Given the description of an element on the screen output the (x, y) to click on. 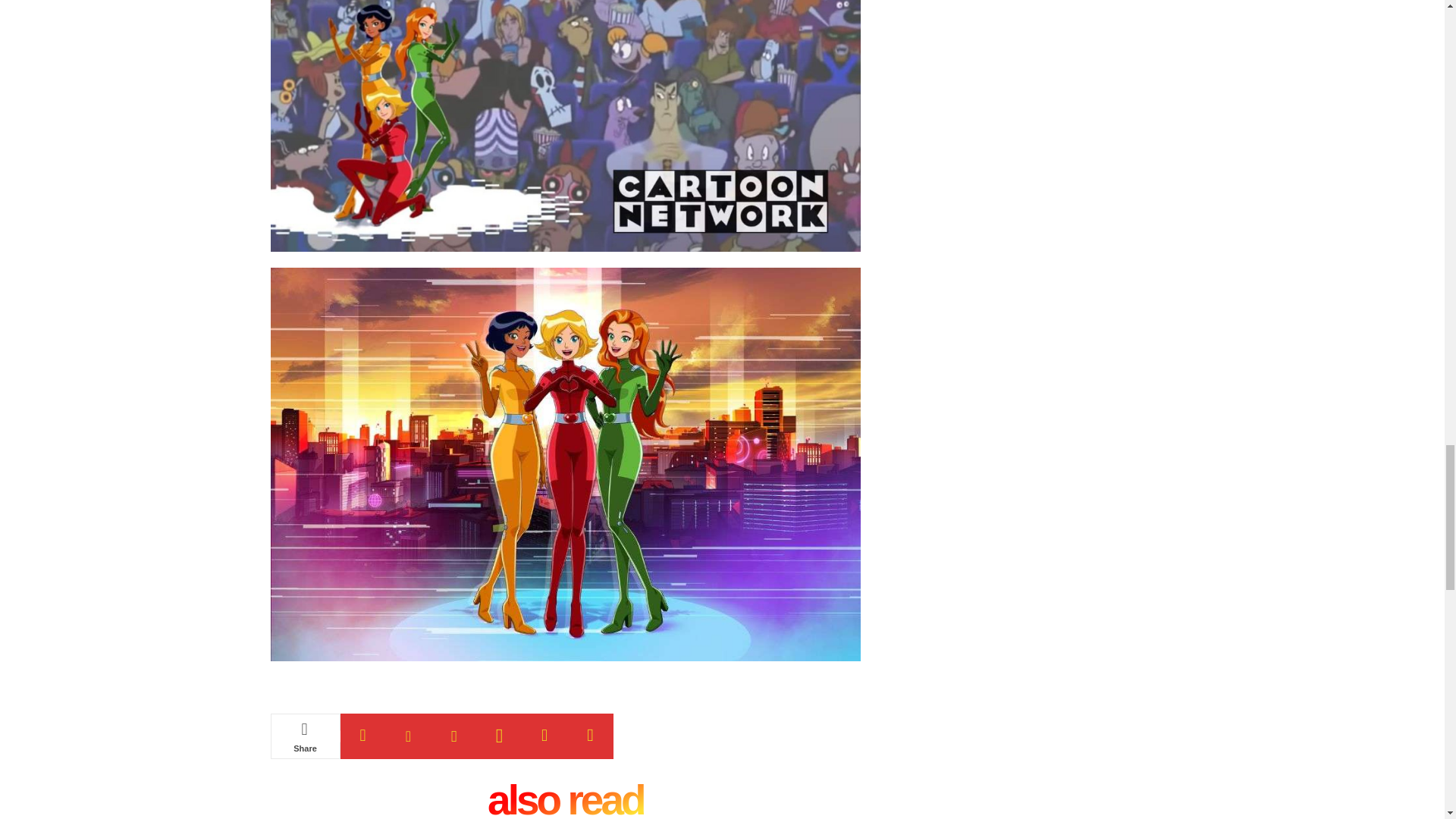
Twitter (407, 736)
Pinterest (453, 736)
Facebook (362, 736)
WhatsApp (498, 736)
